Given the description of an element on the screen output the (x, y) to click on. 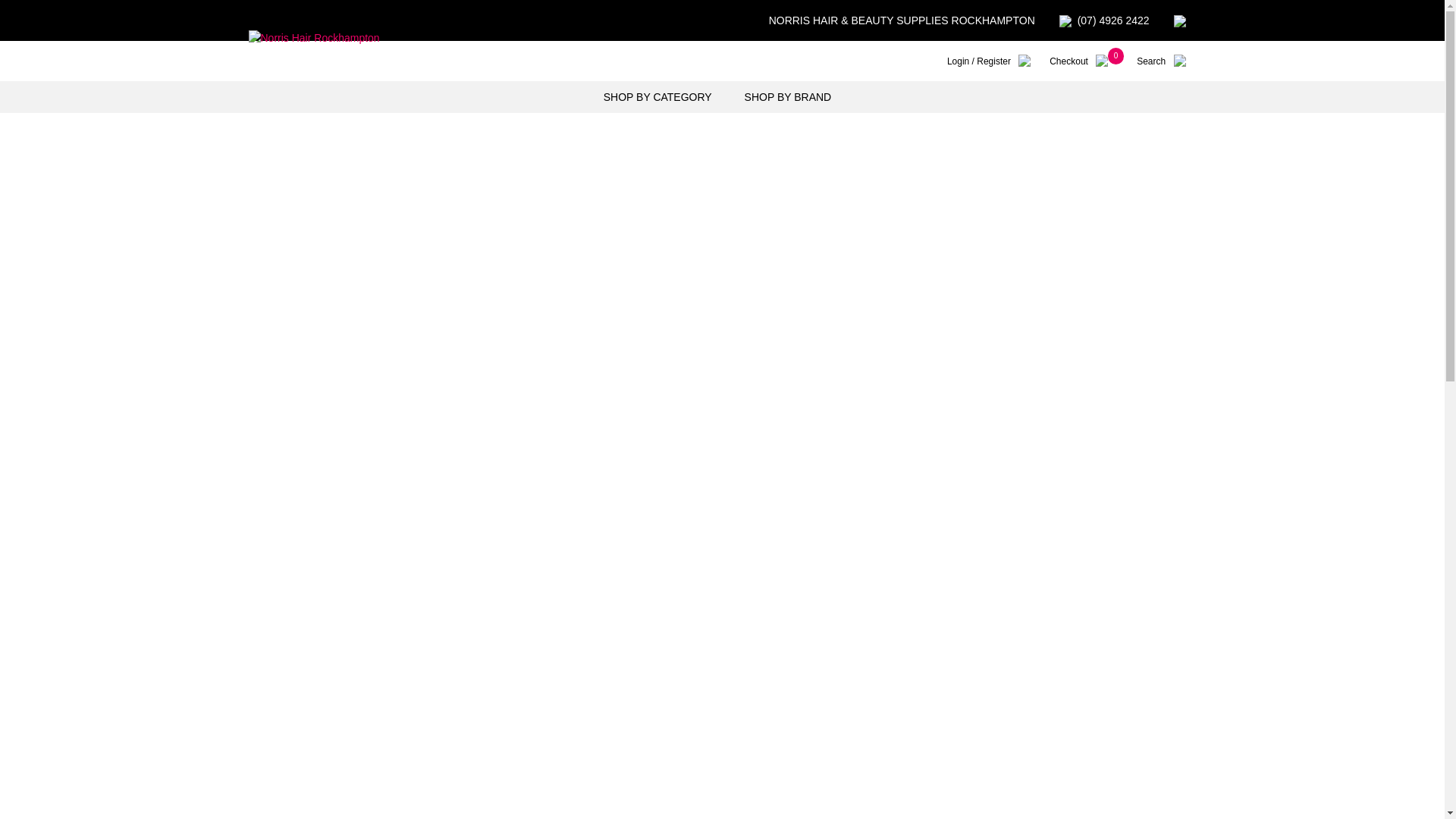
Search Element type: text (1163, 61)
SHOP BY BRAND Element type: text (792, 96)
Checkout
0 Element type: text (1081, 61)
Login / Register Element type: text (991, 61)
SHOP BY CATEGORY Element type: text (662, 96)
(07) 4926 2422 Element type: text (1104, 20)
